Given the description of an element on the screen output the (x, y) to click on. 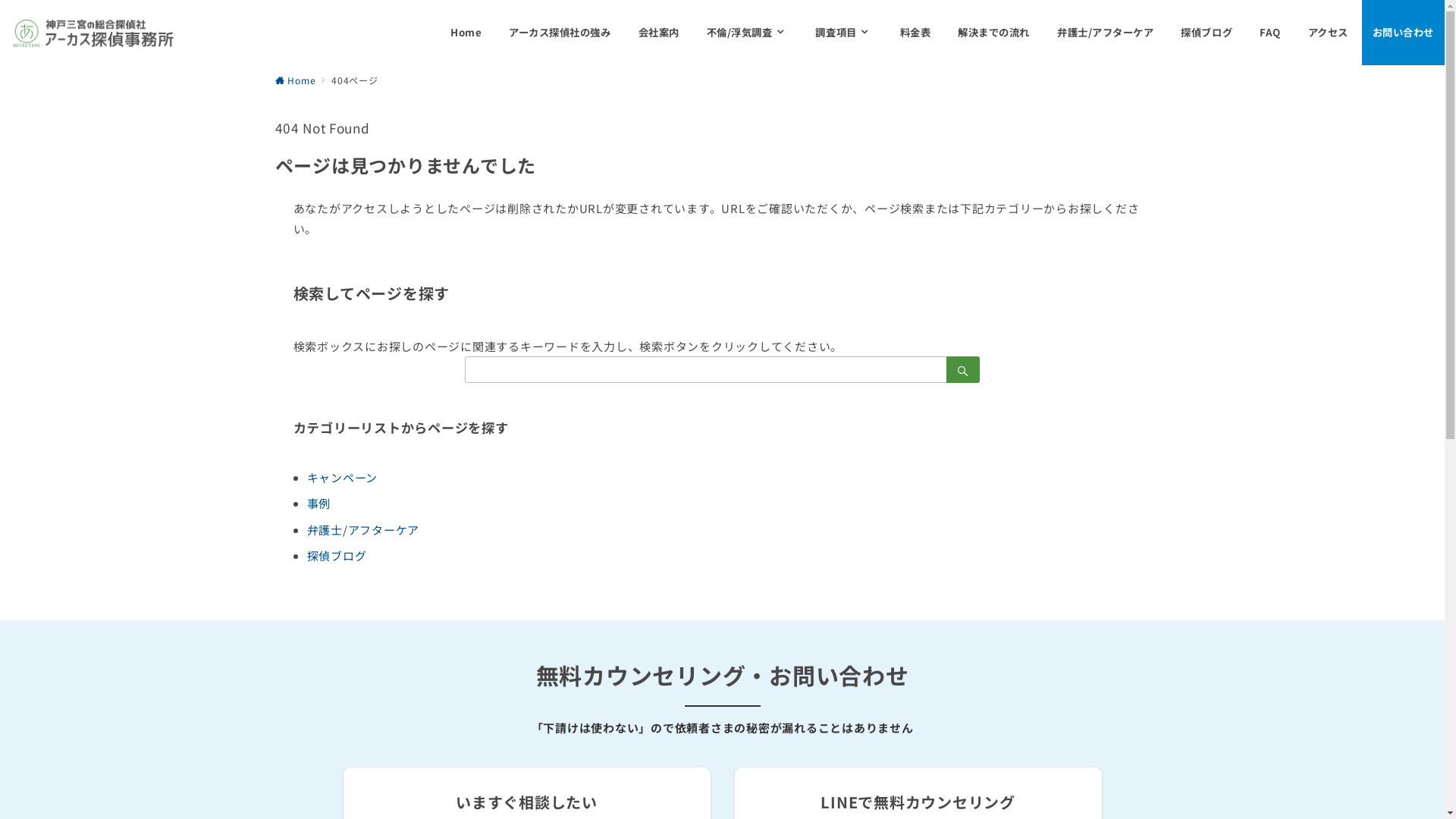
Home Element type: text (294, 79)
Home Element type: text (465, 32)
FAQ Element type: text (1269, 32)
